Given the description of an element on the screen output the (x, y) to click on. 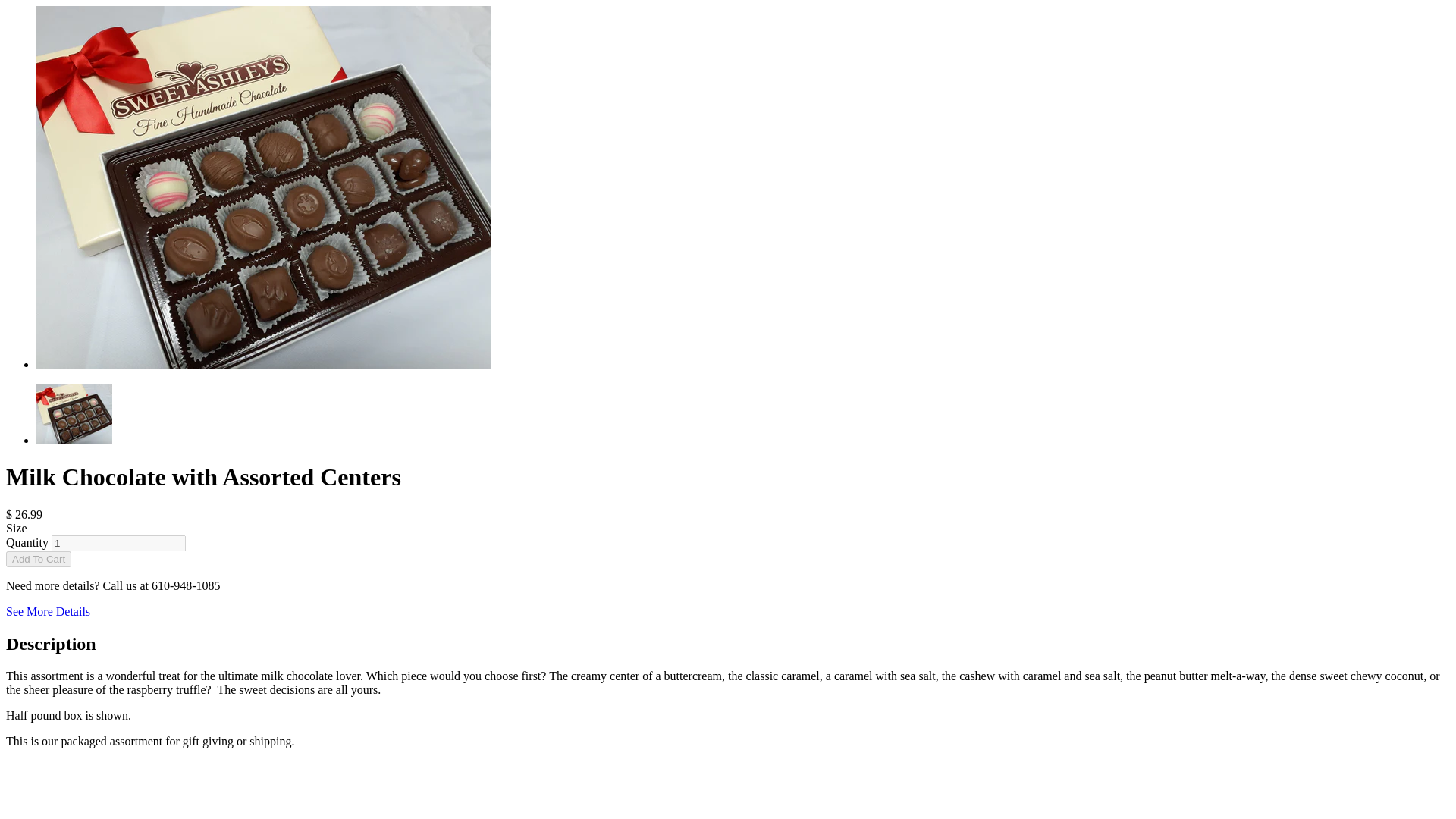
See More Details (47, 611)
1 (118, 543)
Add To Cart (38, 559)
